Given the description of an element on the screen output the (x, y) to click on. 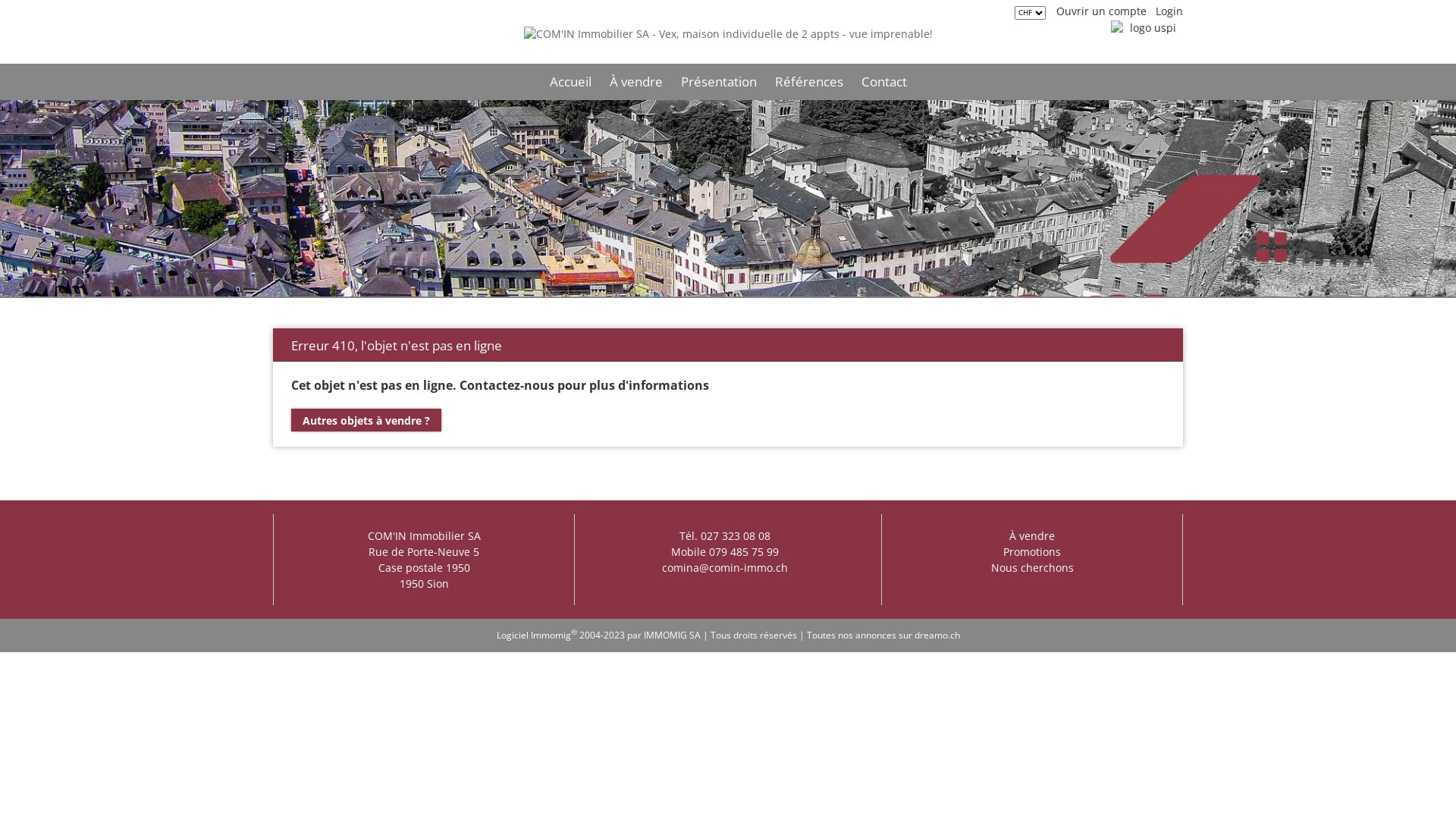
Login Element type: text (1169, 10)
Promotions Element type: text (1031, 551)
027 323 08 08 Element type: text (735, 534)
Accueil Element type: text (569, 81)
Nous cherchons Element type: text (1031, 566)
Ouvrir un compte Element type: text (1101, 10)
Contact Element type: text (884, 81)
079 485 75 99 Element type: text (743, 551)
dreamo.ch Element type: text (937, 633)
comina@comin-immo.ch Element type: text (724, 566)
